Given the description of an element on the screen output the (x, y) to click on. 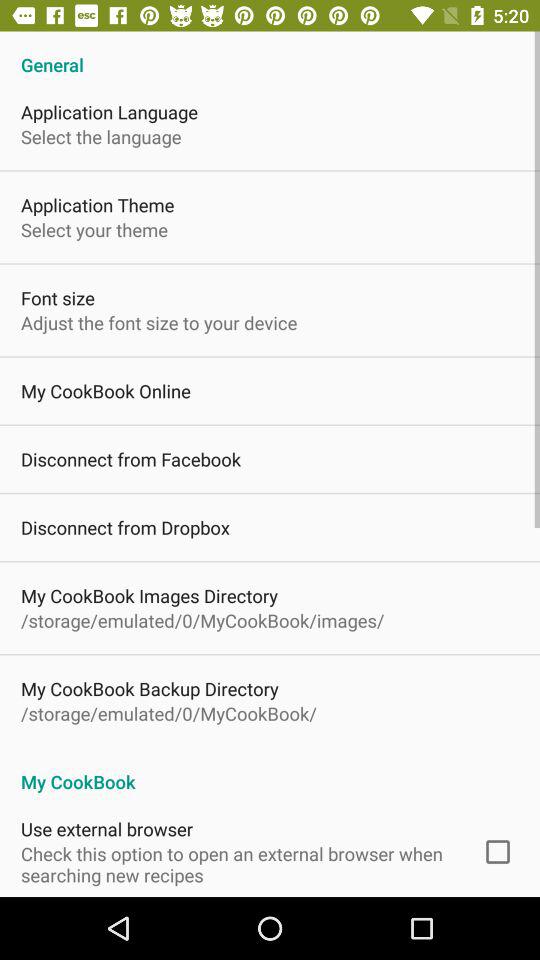
turn off application language app (109, 111)
